Given the description of an element on the screen output the (x, y) to click on. 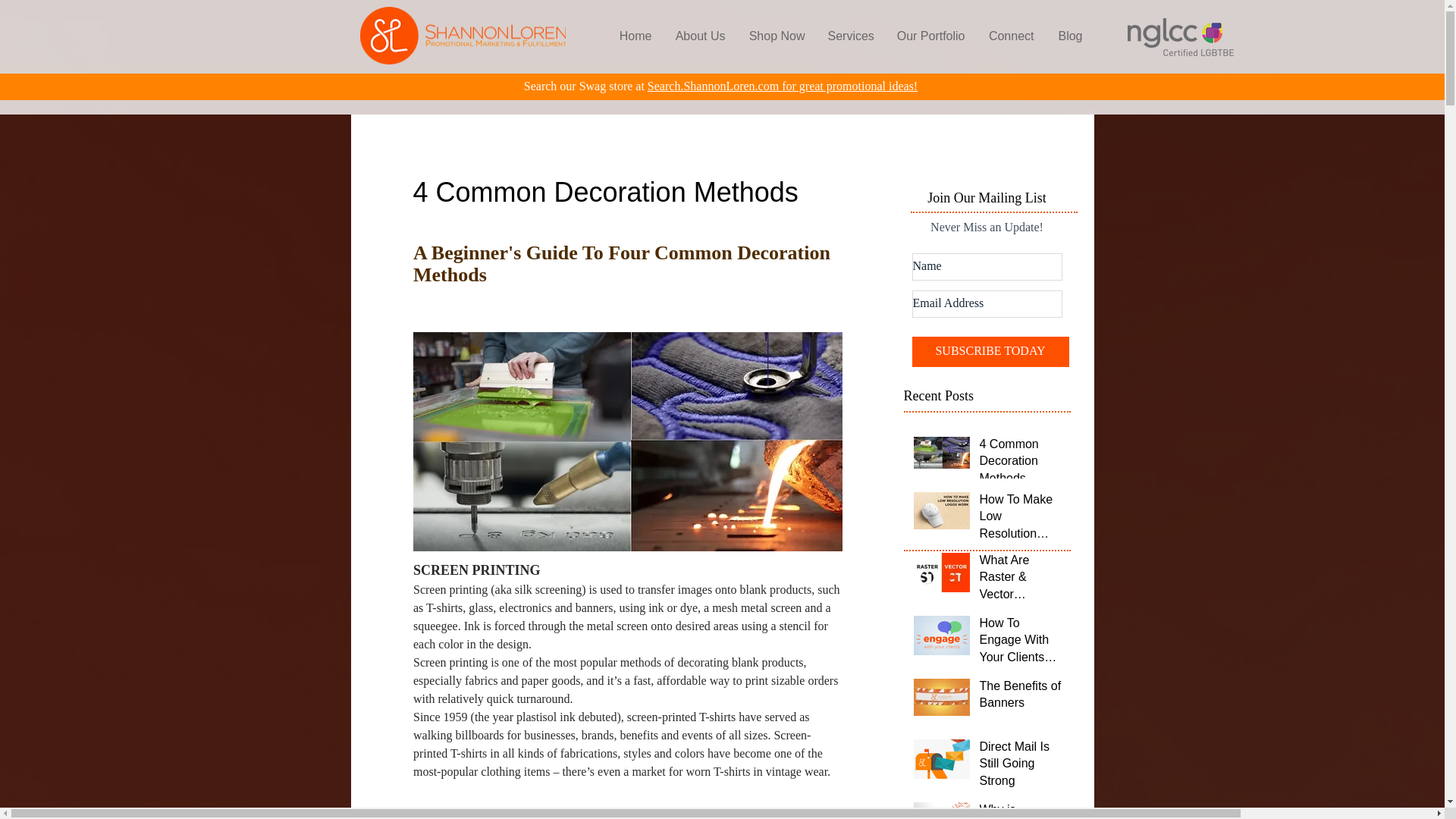
How To Make Low Resolution Logos Work (1020, 519)
Our Portfolio (928, 36)
Shop Now (776, 36)
Direct Mail Is Still Going Strong (1020, 766)
SUBSCRIBE TODAY (989, 351)
How To Engage With Your Clients More Effectively (1020, 643)
About Us (699, 36)
The Benefits of Banners (1020, 698)
Search.ShannonLoren.com for great promotional ideas! (782, 85)
4 Common Decoration Methods (1020, 464)
Why is Branding Important? (1020, 810)
Blog (1069, 36)
Home (635, 36)
Services (848, 36)
Connect (1010, 36)
